Given the description of an element on the screen output the (x, y) to click on. 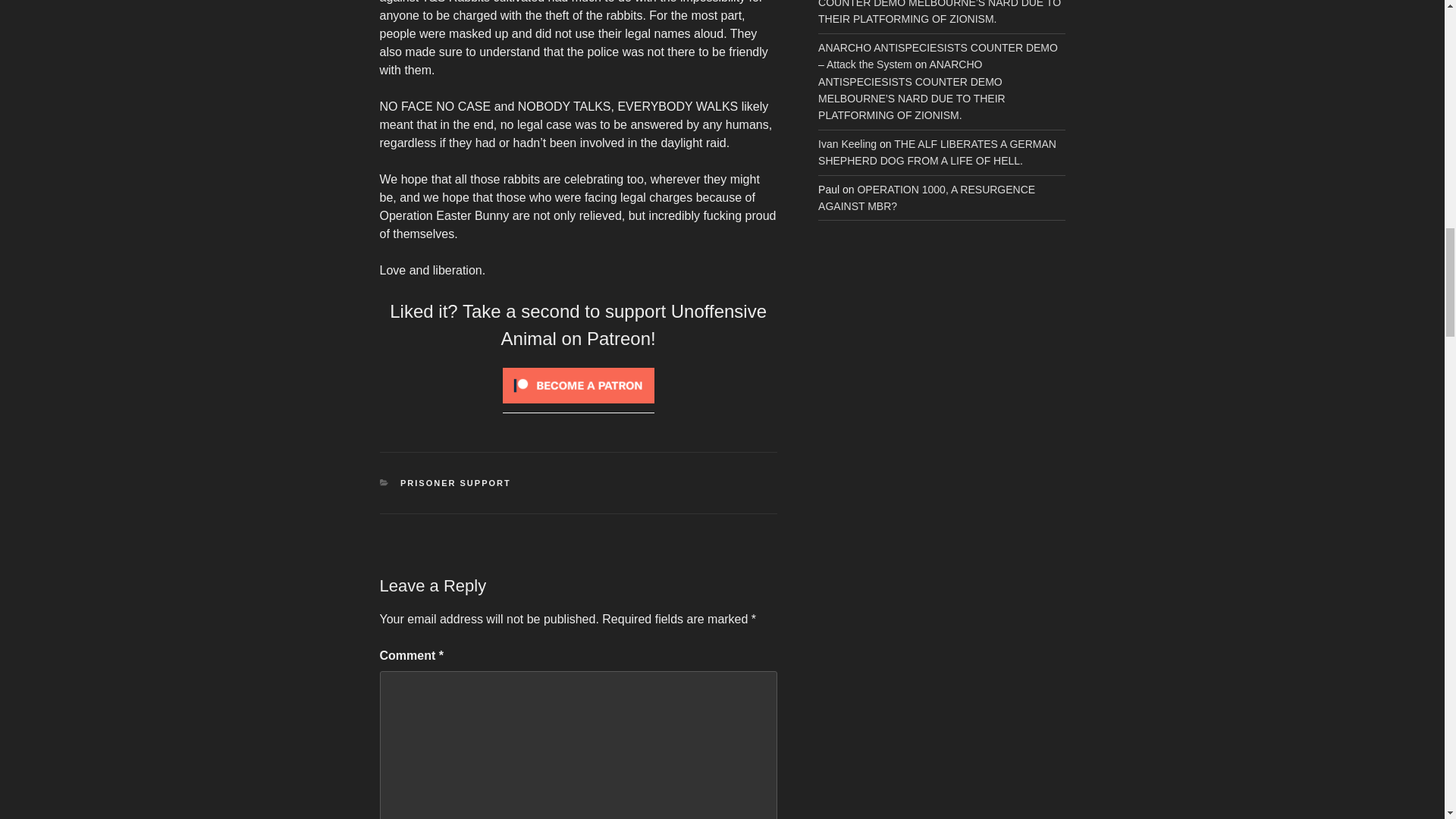
PRISONER SUPPORT (455, 482)
